Given the description of an element on the screen output the (x, y) to click on. 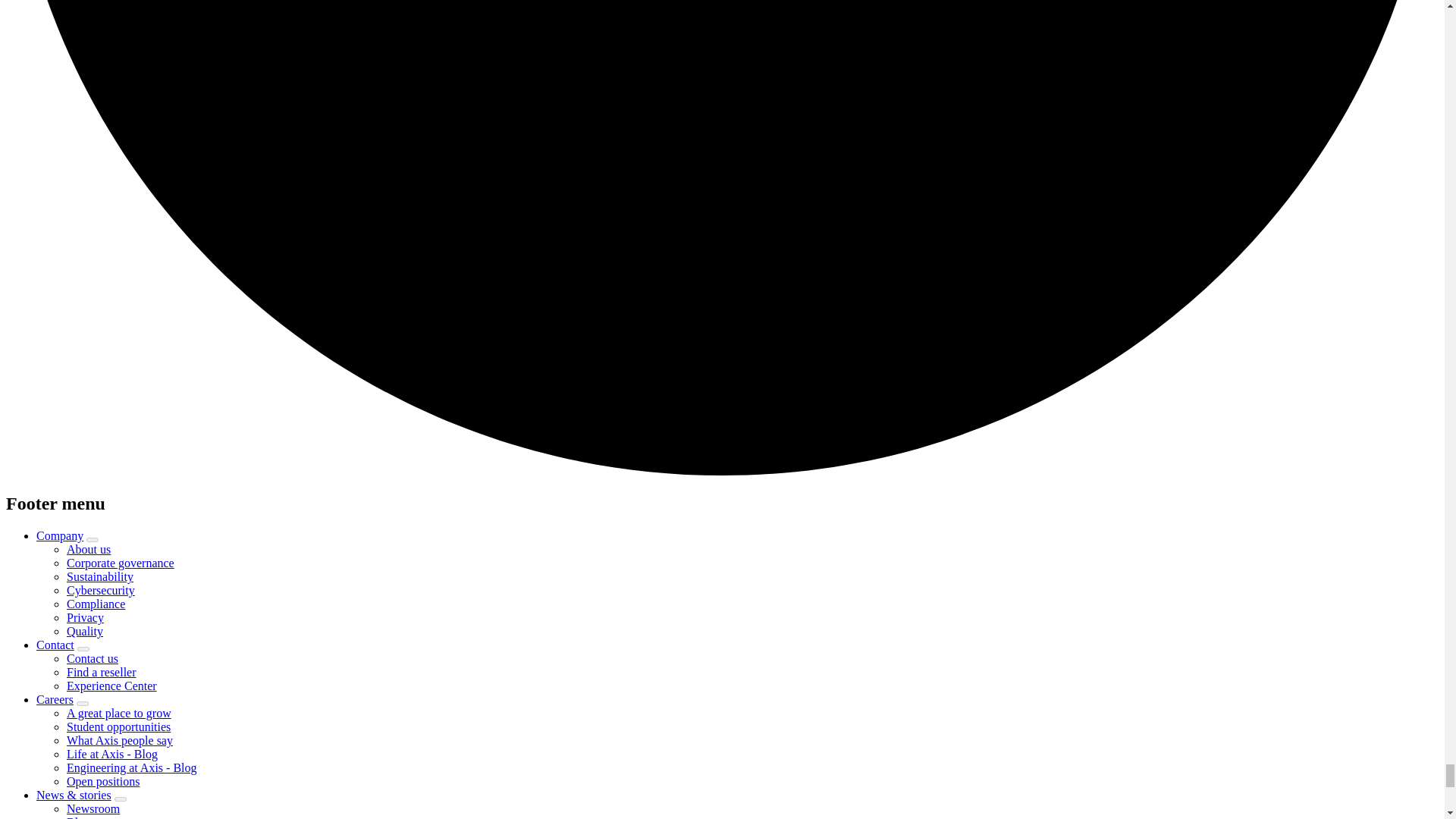
Compliance (95, 603)
